Given the description of an element on the screen output the (x, y) to click on. 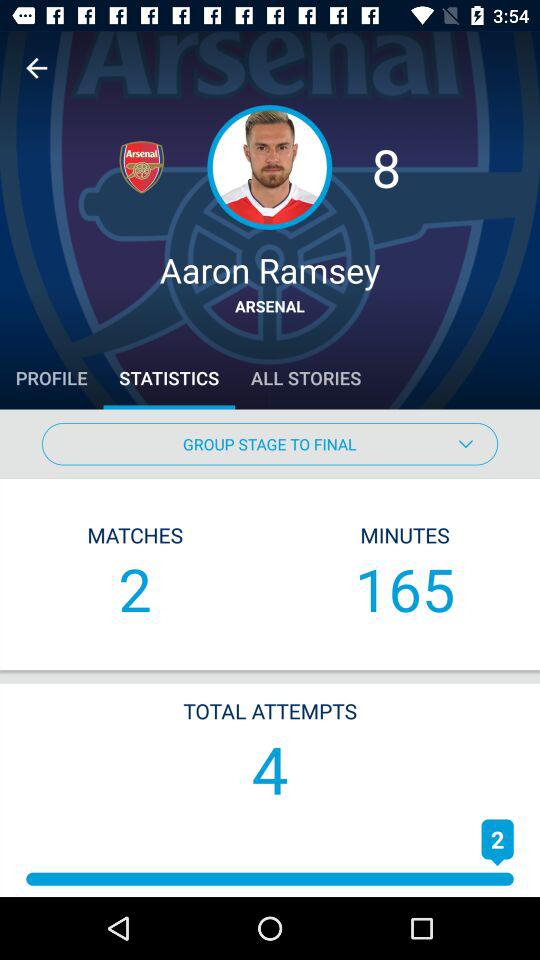
great way to know score (36, 68)
